Given the description of an element on the screen output the (x, y) to click on. 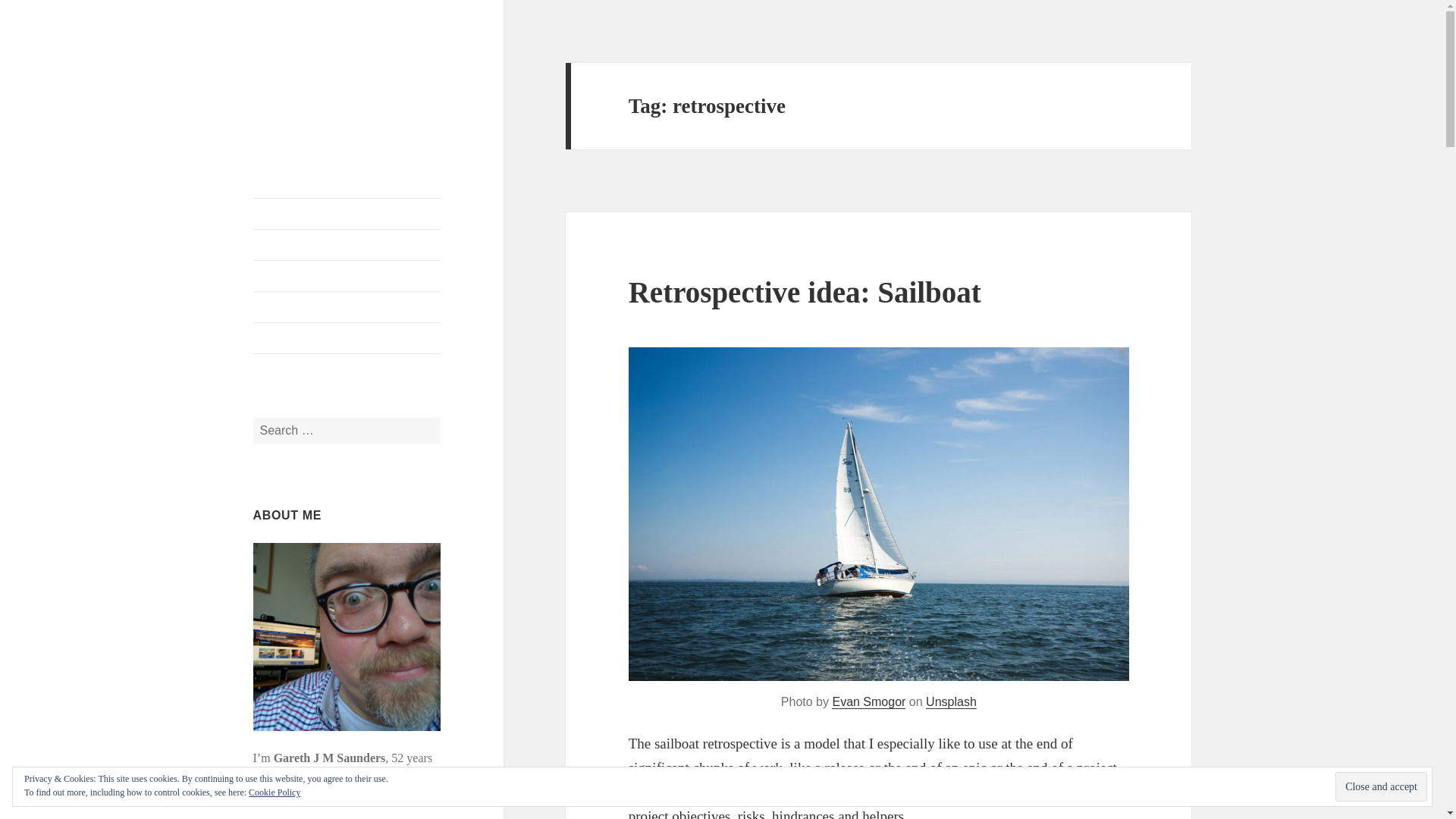
Web design (347, 306)
A wee bit about me. (347, 245)
Close and accept (1380, 786)
View from the Potting Shed (320, 86)
About (347, 245)
Contact (347, 337)
Books (347, 276)
